Given the description of an element on the screen output the (x, y) to click on. 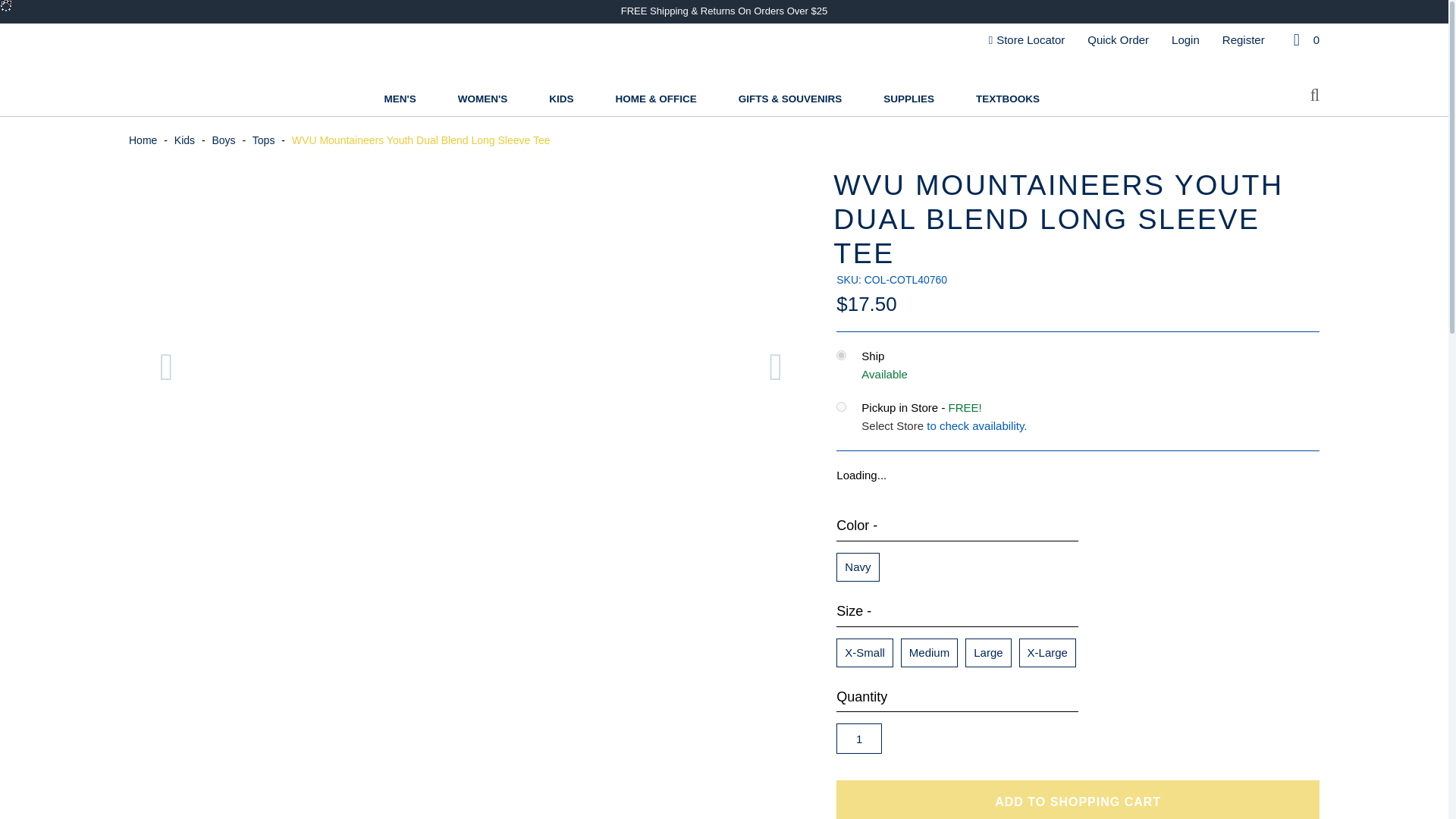
Quick Order (1117, 39)
on (840, 355)
Cart (1304, 39)
Quick Order (1117, 39)
Login (1185, 39)
WOMEN'S (482, 100)
Store Locator (1026, 39)
0 (1304, 39)
on (840, 406)
Store Locator (1026, 39)
